Given the description of an element on the screen output the (x, y) to click on. 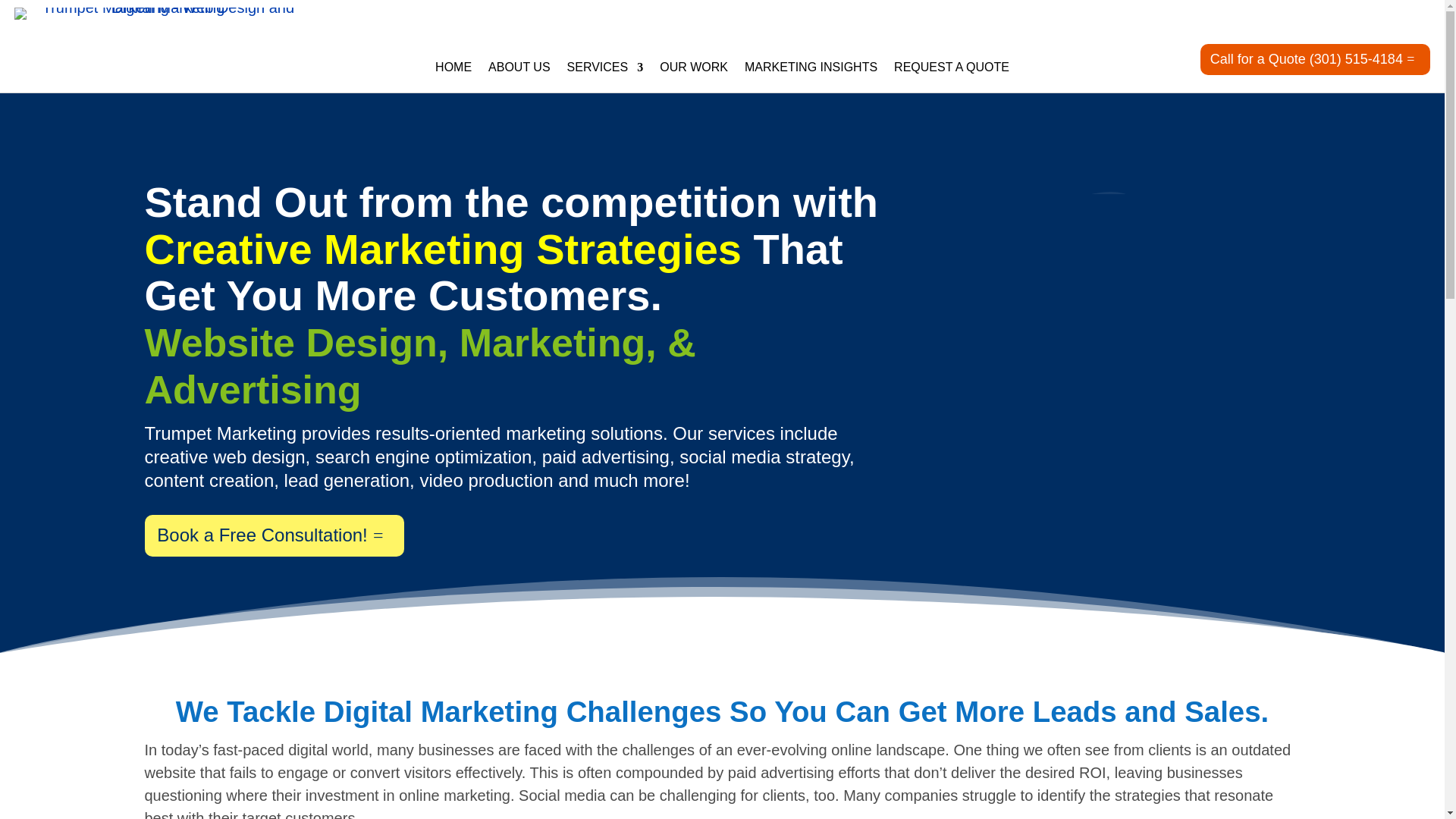
Request a Free Quotation (951, 70)
OUR WORK (693, 70)
About Trumpet Marketing Group (518, 70)
Book a Free Consultation! (273, 535)
REQUEST A QUOTE (951, 70)
Website Design Portfolio (693, 70)
MARKETING INSIGHTS (810, 70)
SERVICES (605, 70)
HOME (453, 70)
ABOUT US (518, 70)
